Given the description of an element on the screen output the (x, y) to click on. 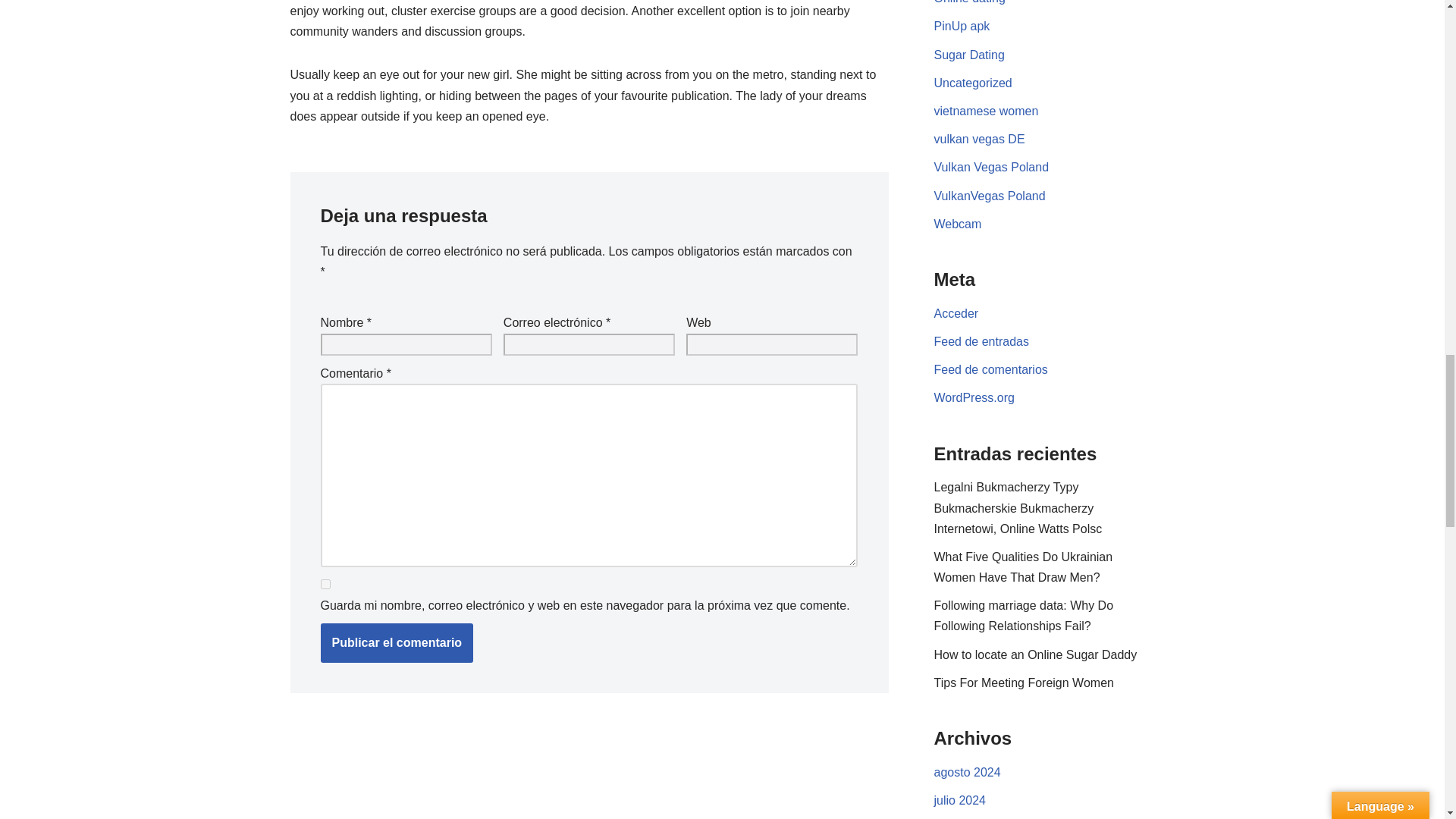
yes (325, 583)
Publicar el comentario (396, 642)
Publicar el comentario (396, 642)
